Given the description of an element on the screen output the (x, y) to click on. 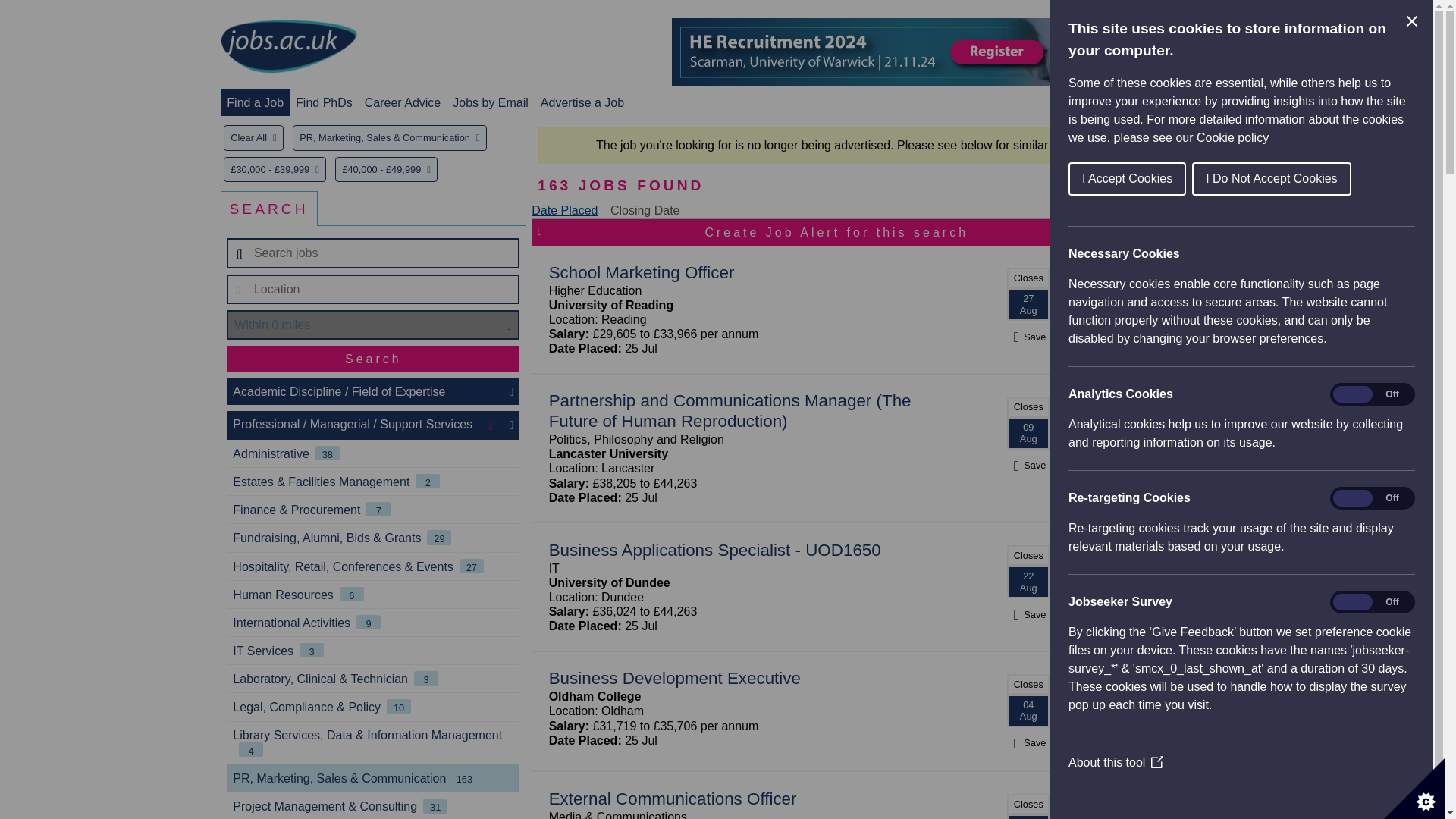
External Communications Officer (672, 798)
Search (373, 358)
Save (1027, 614)
Save job (1027, 614)
Business Applications Specialist - UOD1650 (714, 549)
Career Advice (403, 102)
home page (288, 47)
Save (1027, 742)
I Accept Cookies (1222, 178)
HE RECRUITMENT 2024 (947, 52)
jobs.ac.uk - Great jobs for bright people (288, 45)
I Do Not Accept Cookies (1334, 178)
Save job (1027, 336)
Find PhDs (323, 102)
Save job (1027, 464)
